Given the description of an element on the screen output the (x, y) to click on. 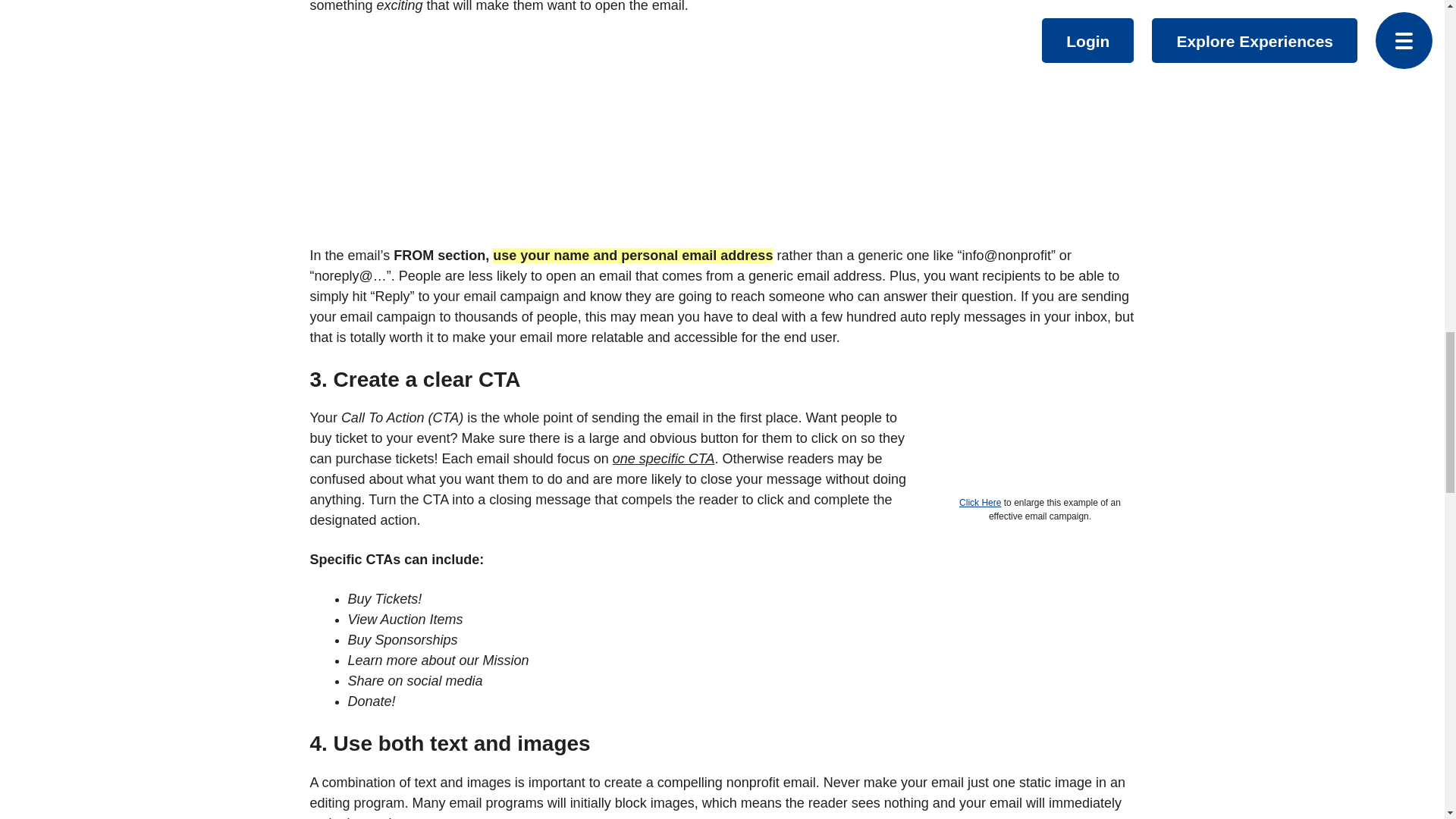
Nonprofit Hope Gala Newsletter (1020, 439)
Click Here (980, 502)
Inbox-Example2.png (601, 138)
